Given the description of an element on the screen output the (x, y) to click on. 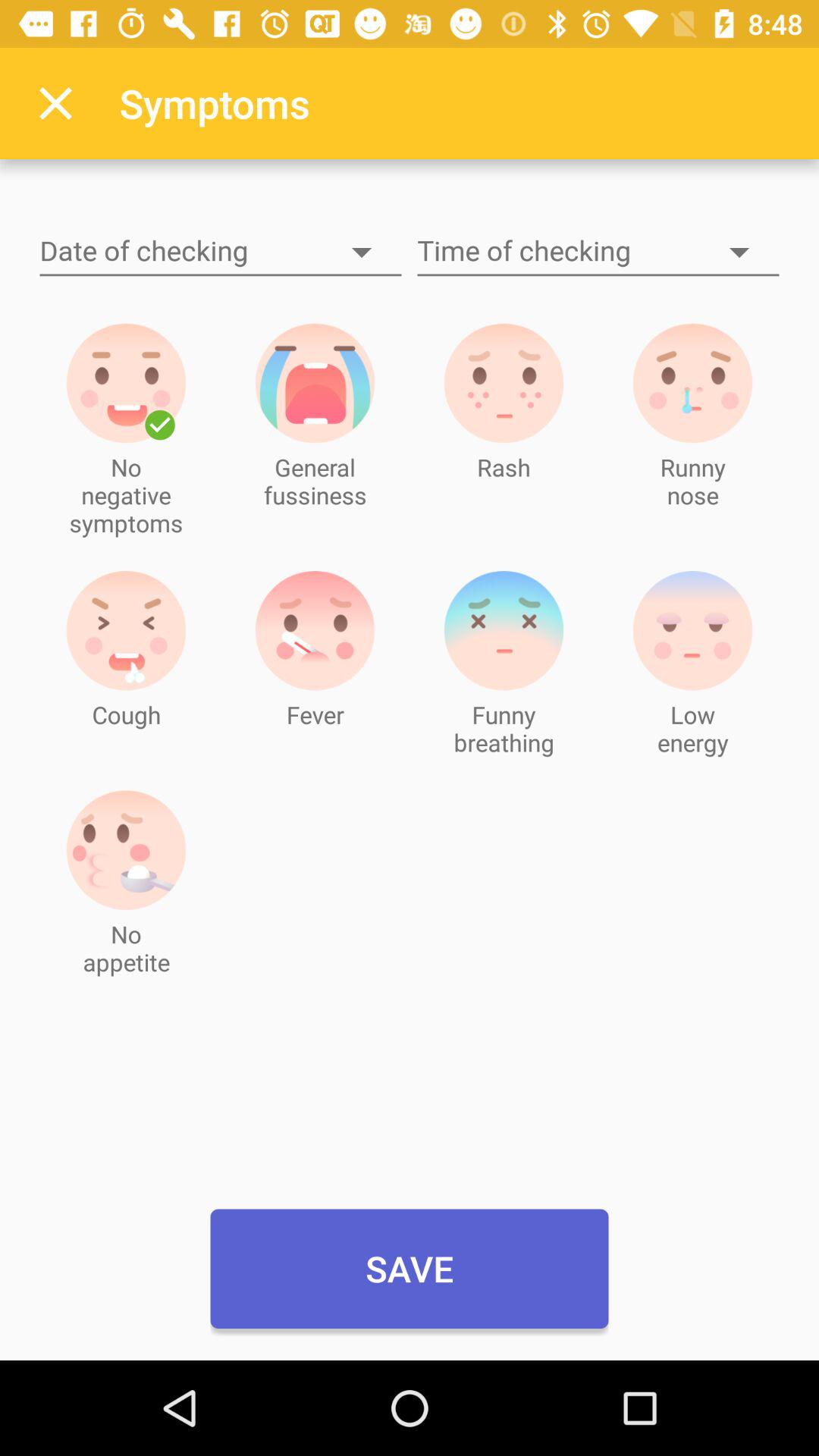
flip to the save icon (409, 1268)
